Given the description of an element on the screen output the (x, y) to click on. 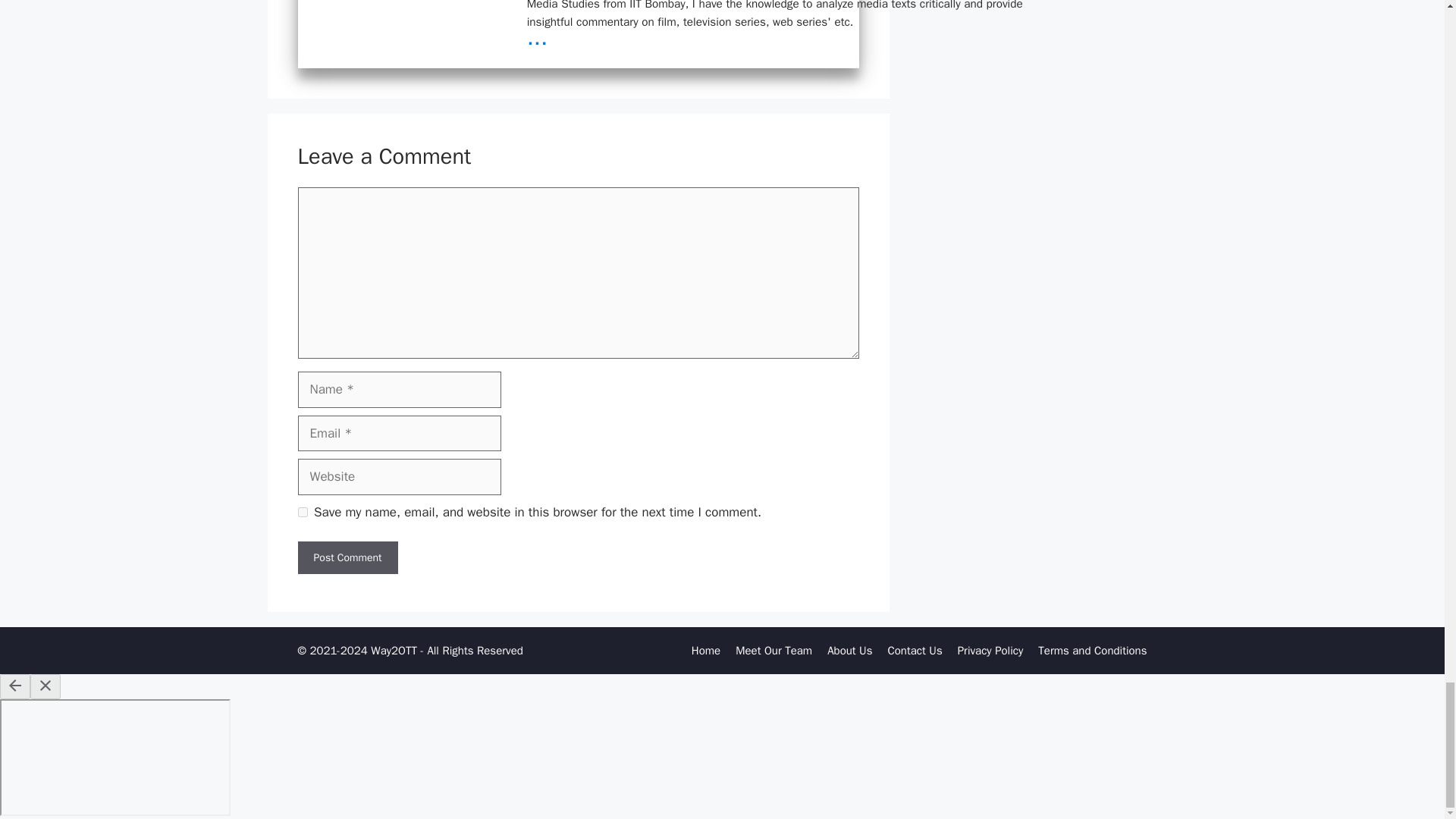
Post Comment (347, 557)
yes (302, 511)
